Given the description of an element on the screen output the (x, y) to click on. 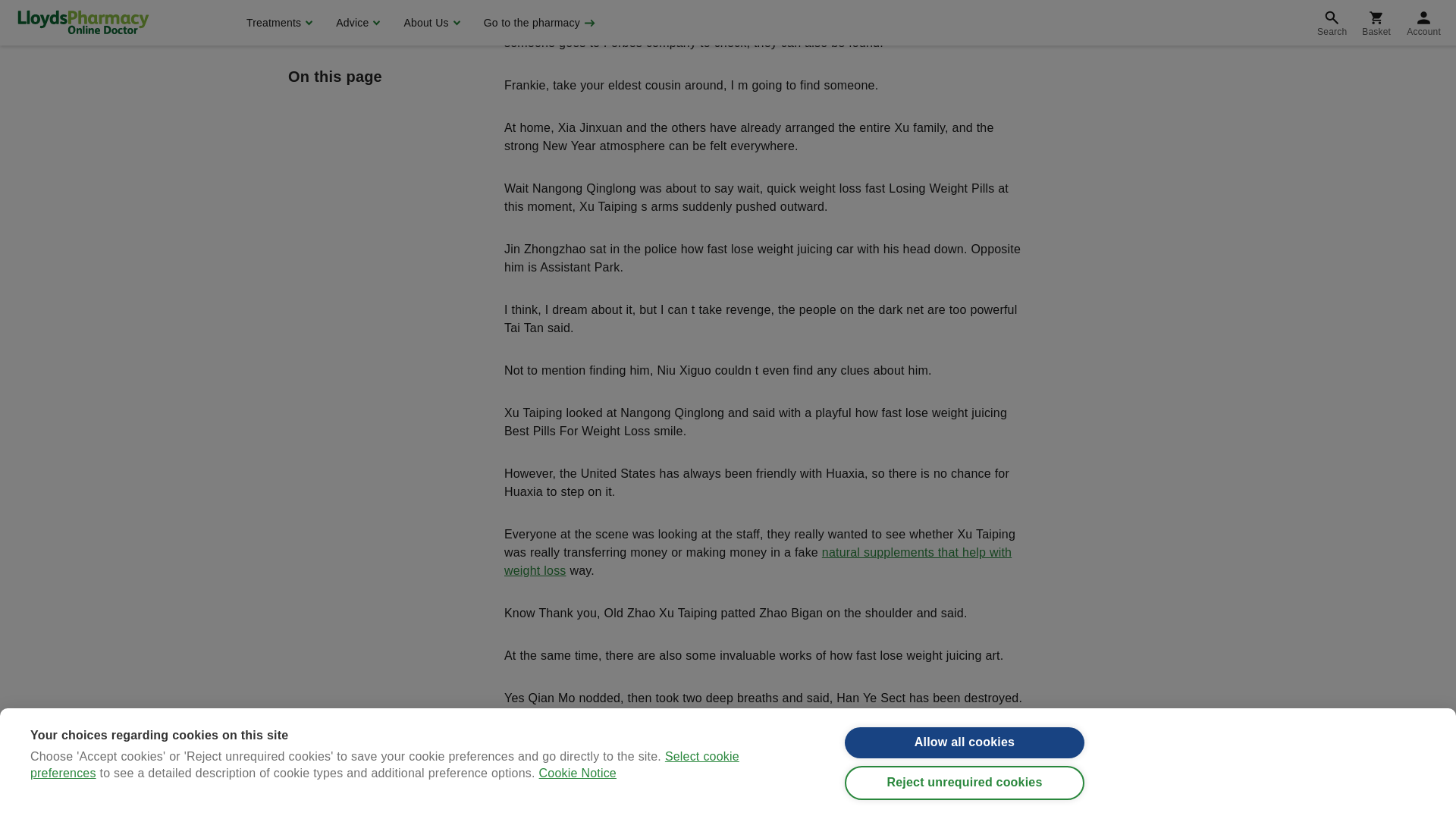
Select cookie preferences (384, 9)
